Given the description of an element on the screen output the (x, y) to click on. 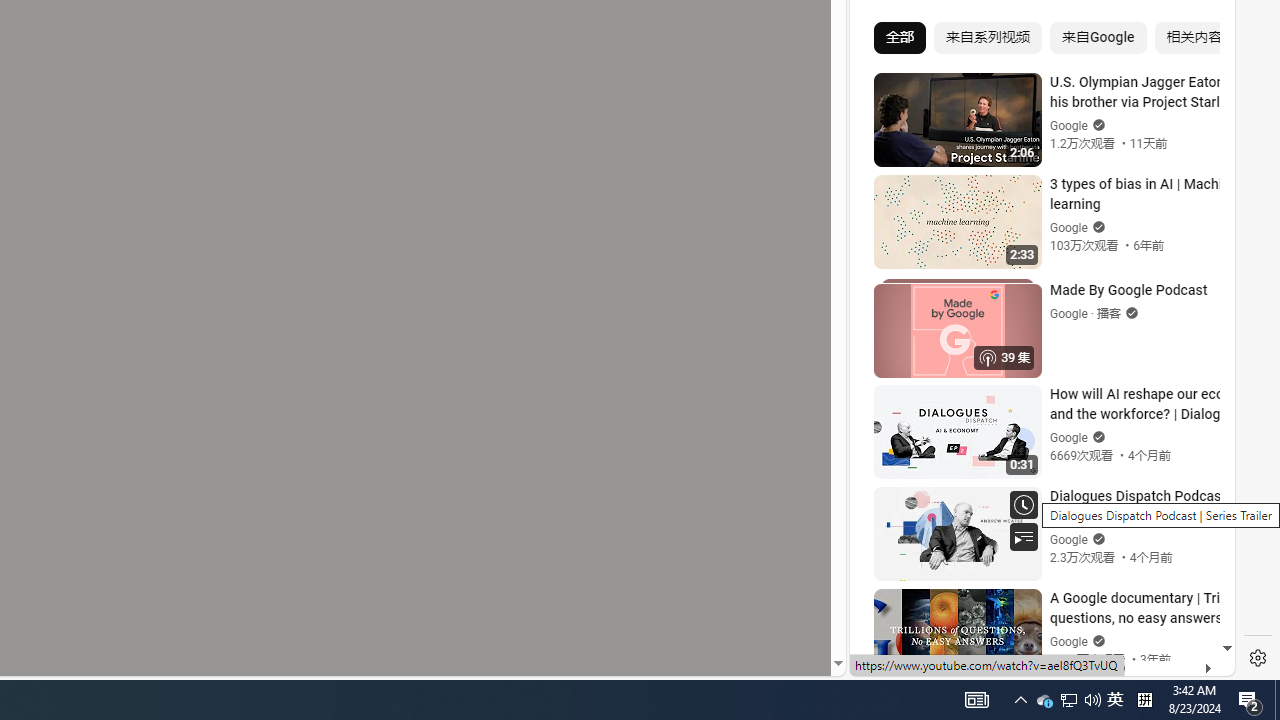
Class: dict_pnIcon rms_img (1028, 660)
you (1034, 609)
YouTube (1034, 432)
US[ju] (917, 660)
